Given the description of an element on the screen output the (x, y) to click on. 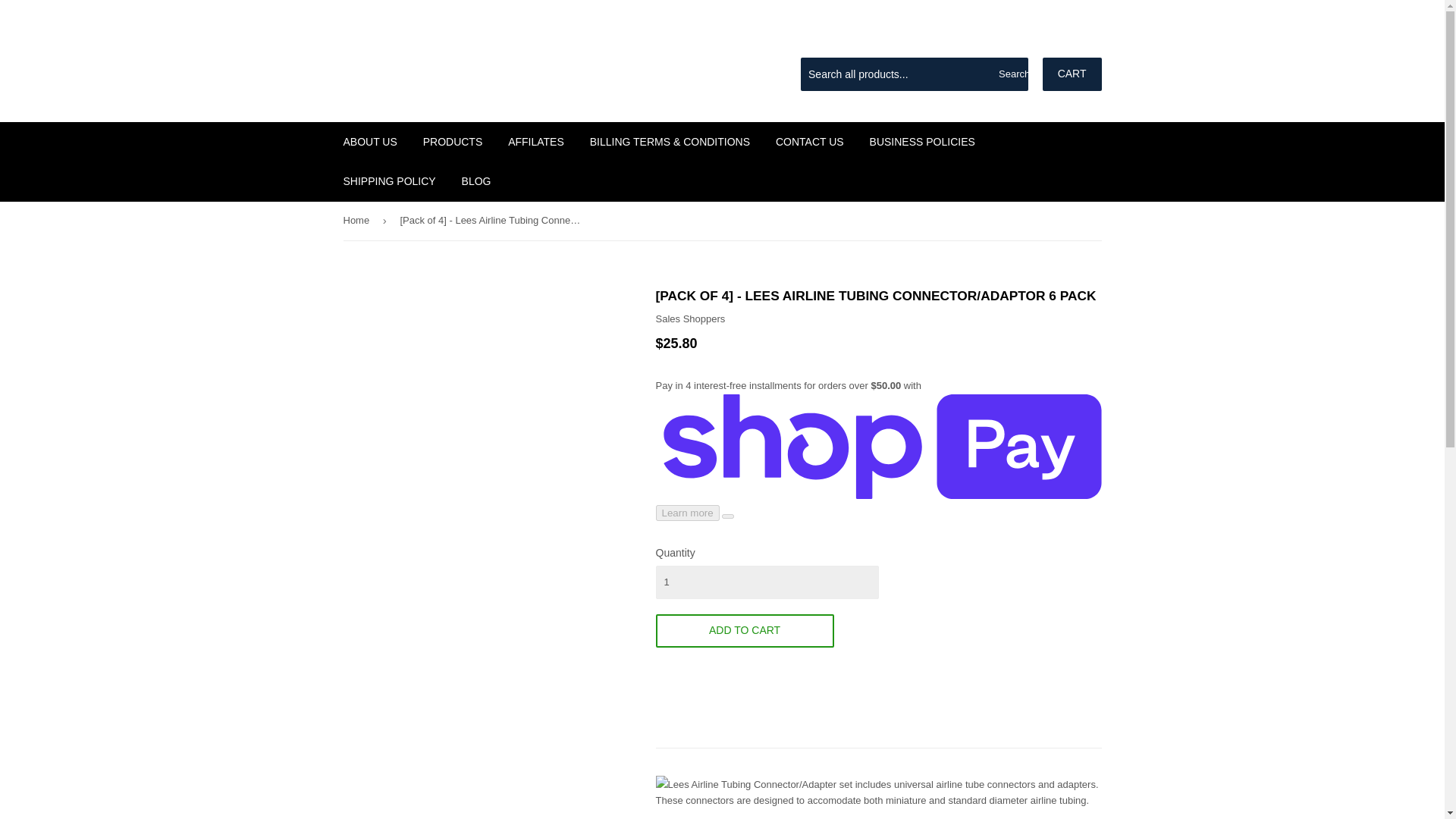
BUSINESS POLICIES (923, 141)
Sign in (993, 38)
ADD TO CART (743, 630)
SHIPPING POLICY (388, 180)
CART (1072, 73)
Create an Account (1063, 38)
BLOG (475, 180)
Search (1010, 74)
AFFILATES (535, 141)
1 (766, 581)
